Given the description of an element on the screen output the (x, y) to click on. 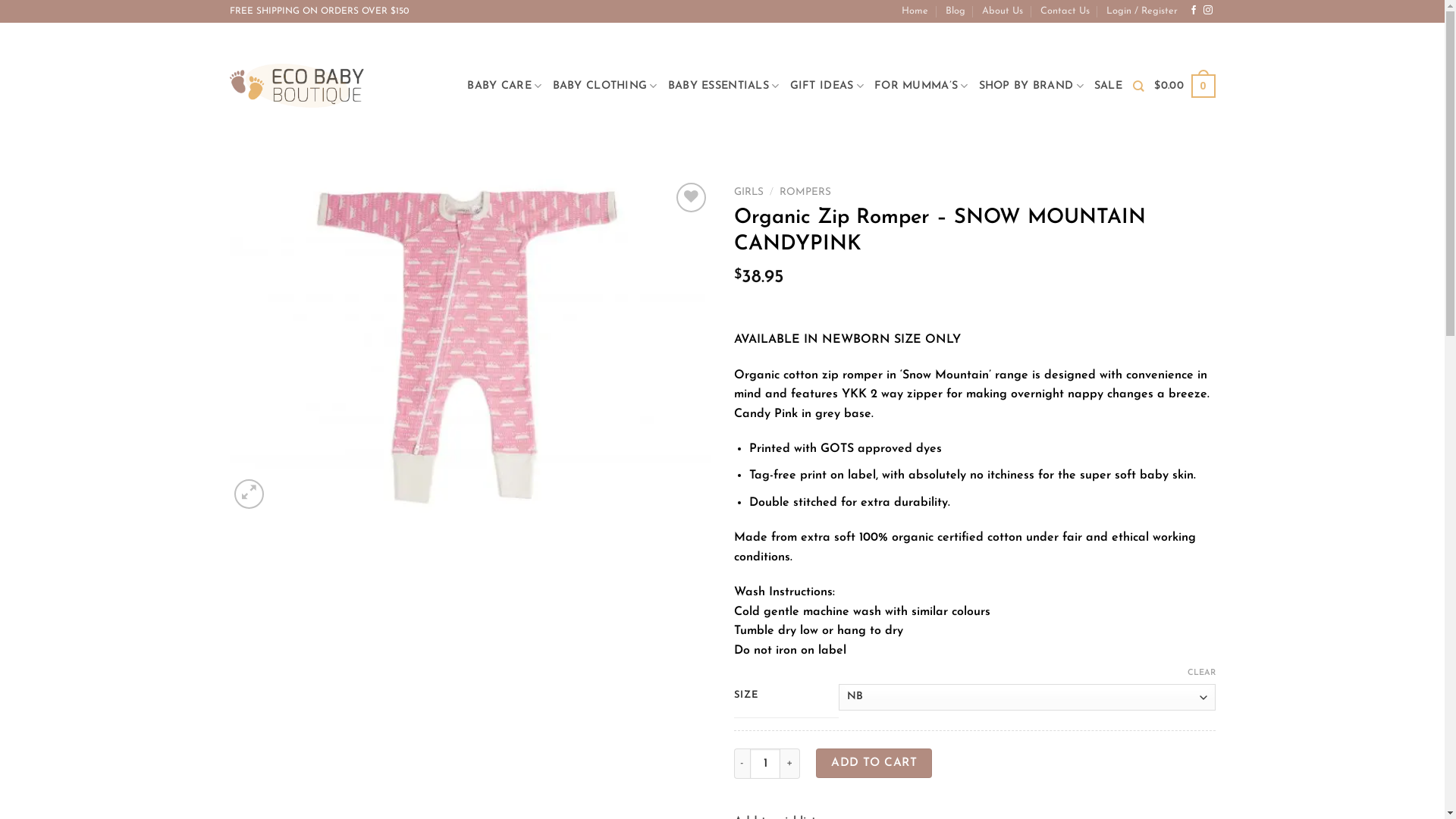
$0.00
0 Element type: text (1184, 85)
SHOP BY BRAND Element type: text (1031, 85)
BABY CARE Element type: text (504, 85)
CLEAR Element type: text (1201, 673)
Qty Element type: hover (764, 763)
About Us Element type: text (1002, 11)
SALE Element type: text (1108, 85)
Home Element type: text (914, 11)
Eco Baby Boutique - Eco Friendly and Natural Baby Products Element type: hover (296, 85)
BABY ESSENTIALS Element type: text (723, 85)
Blog Element type: text (955, 11)
SMPI11_-GIRLS NIOVI_Organic_Cotton_Baby_Romper_Zipsuit Element type: hover (469, 344)
GIRLS Element type: text (748, 192)
ROMPERS Element type: text (805, 192)
GIFT IDEAS Element type: text (826, 85)
ADD TO CART Element type: text (873, 763)
BABY CLOTHING Element type: text (604, 85)
Login / Register Element type: text (1141, 11)
Contact Us Element type: text (1064, 11)
